Given the description of an element on the screen output the (x, y) to click on. 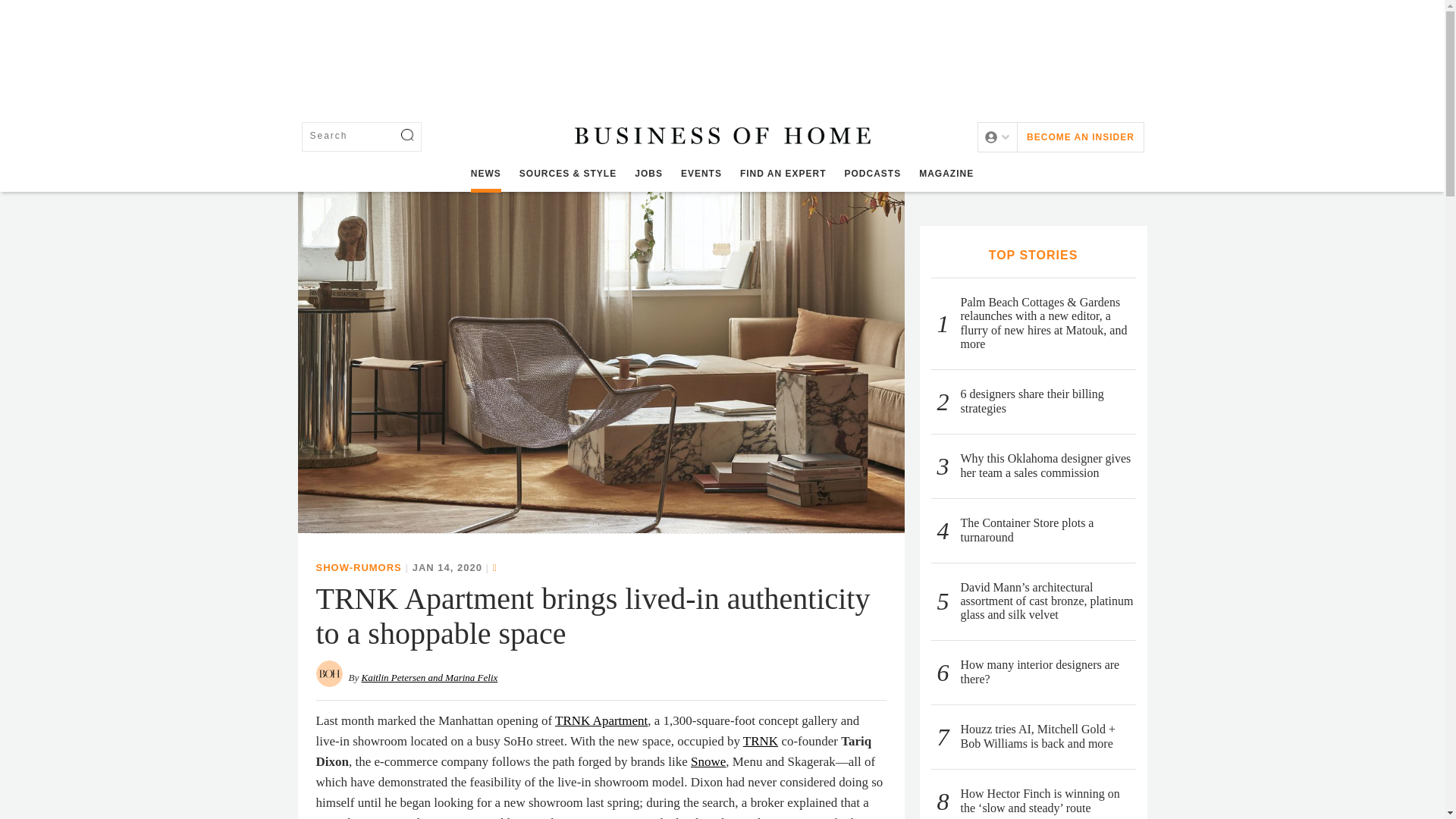
NEWS (485, 173)
